Given the description of an element on the screen output the (x, y) to click on. 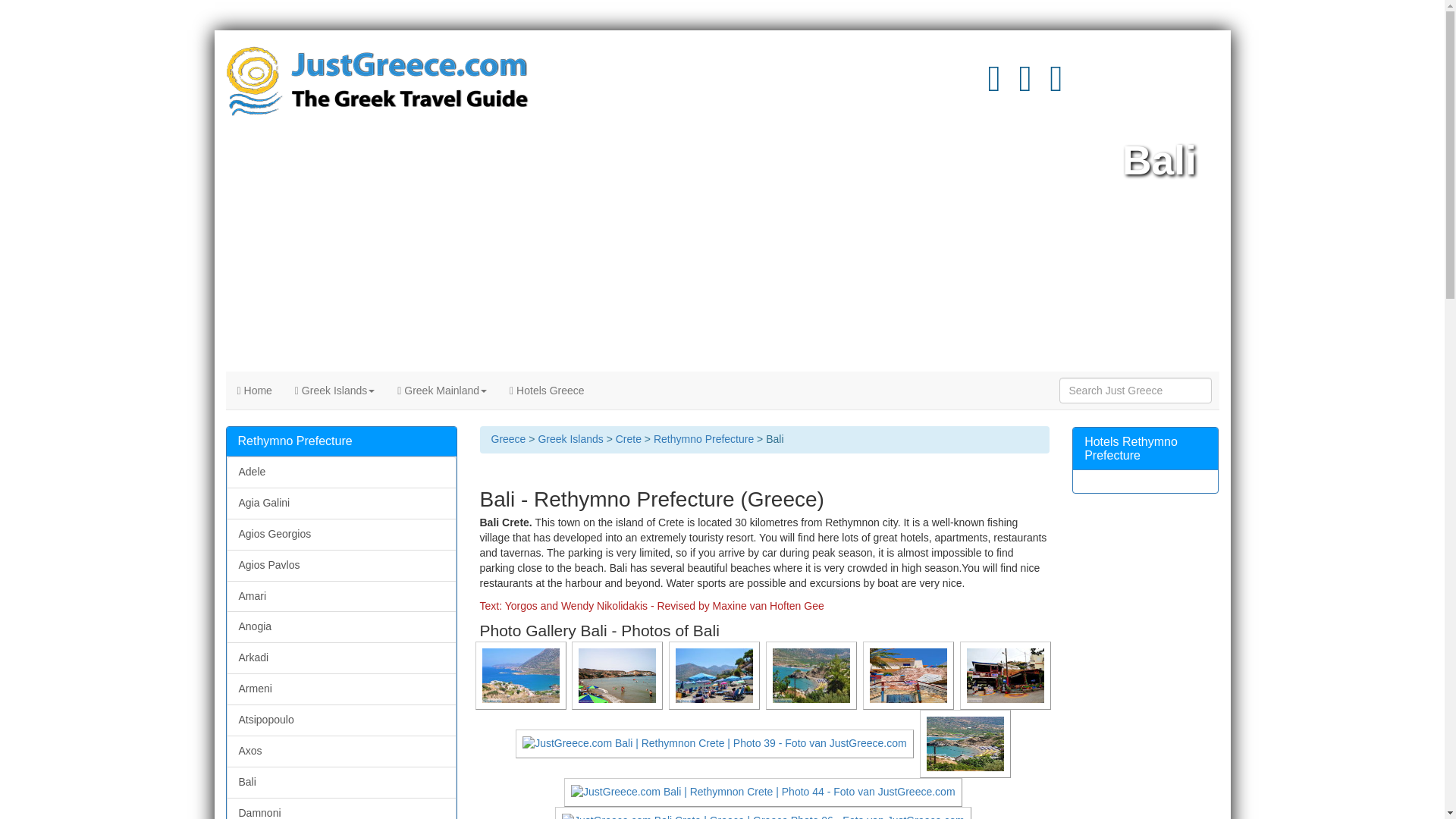
Greece (508, 439)
Instagram JustGreece.com (1024, 87)
Home (254, 390)
Crete (628, 439)
The Greek Islands (334, 390)
Rethymno Prefecture (703, 439)
Hotels Greece (546, 390)
YouTube JustGreece.com (994, 87)
Greek Mainland (441, 390)
The Mainland of Greece (441, 390)
Greek Islands (334, 390)
Greek Islands (569, 439)
Facebook JustGreece.com (1055, 87)
The complete Greek travel Guide (254, 390)
